Given the description of an element on the screen output the (x, y) to click on. 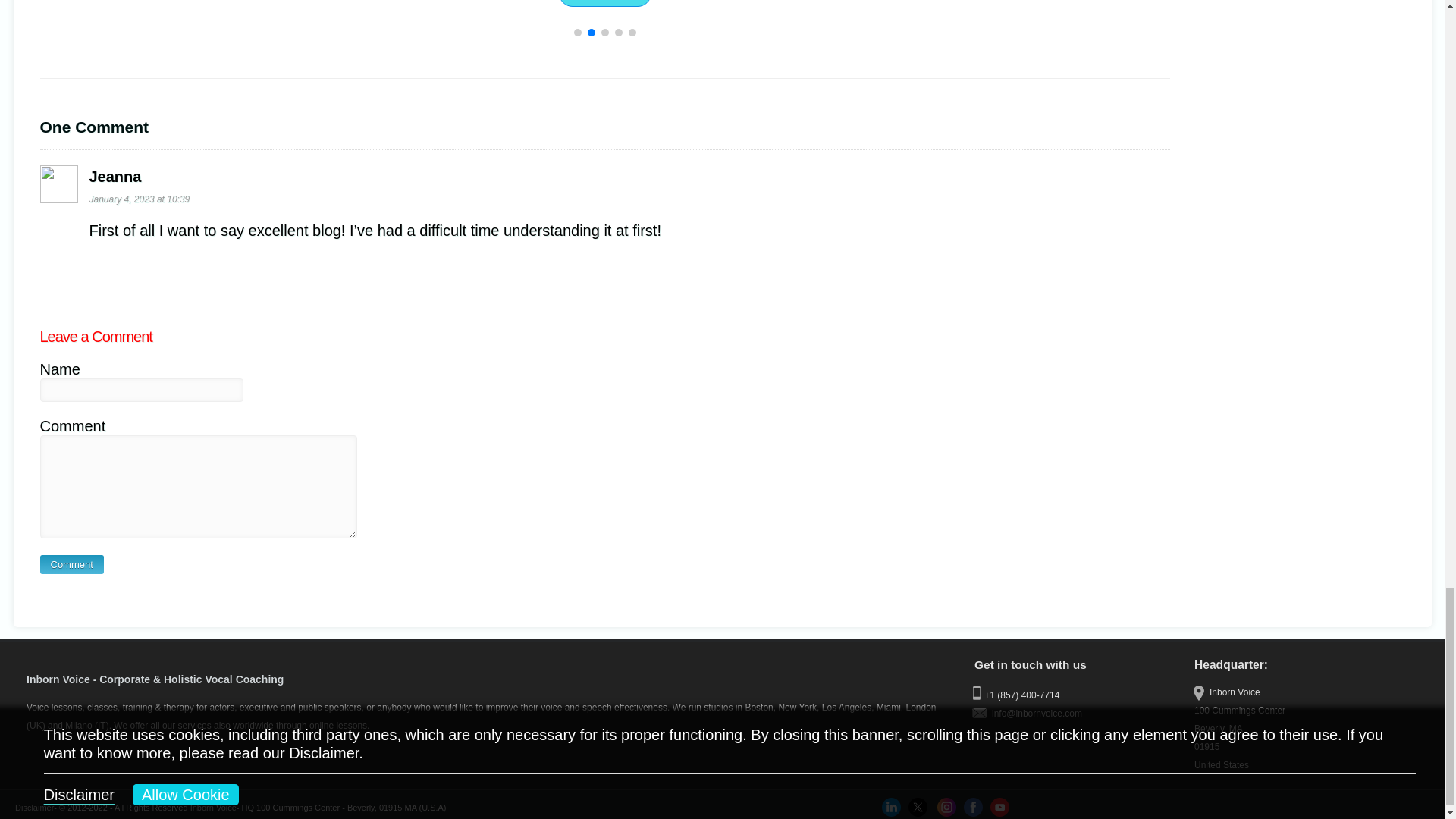
Email (1076, 713)
Comment (71, 564)
Location (1296, 728)
Phone (1076, 693)
